Given the description of an element on the screen output the (x, y) to click on. 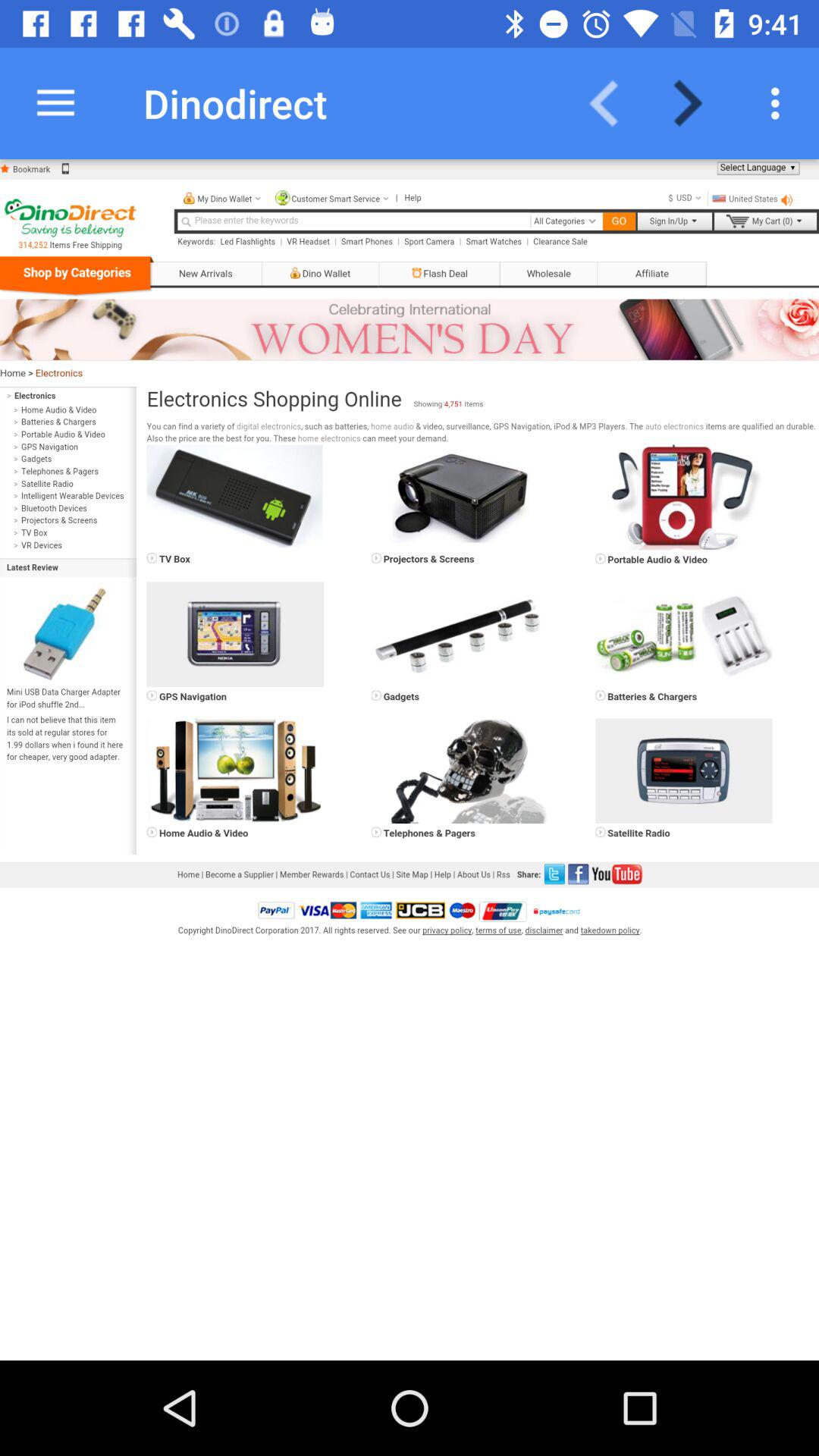
go back (613, 103)
